Given the description of an element on the screen output the (x, y) to click on. 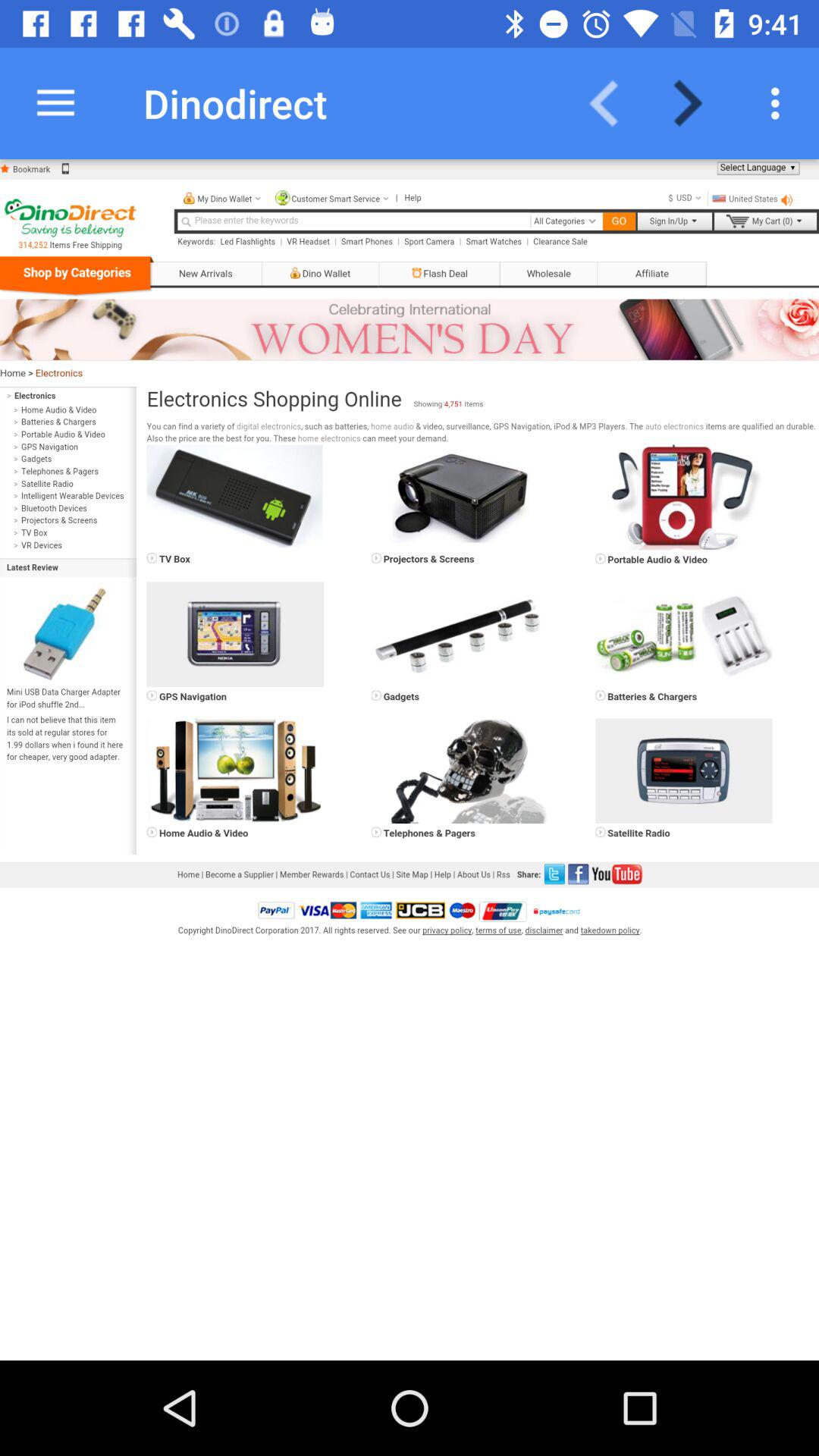
go back (613, 103)
